Given the description of an element on the screen output the (x, y) to click on. 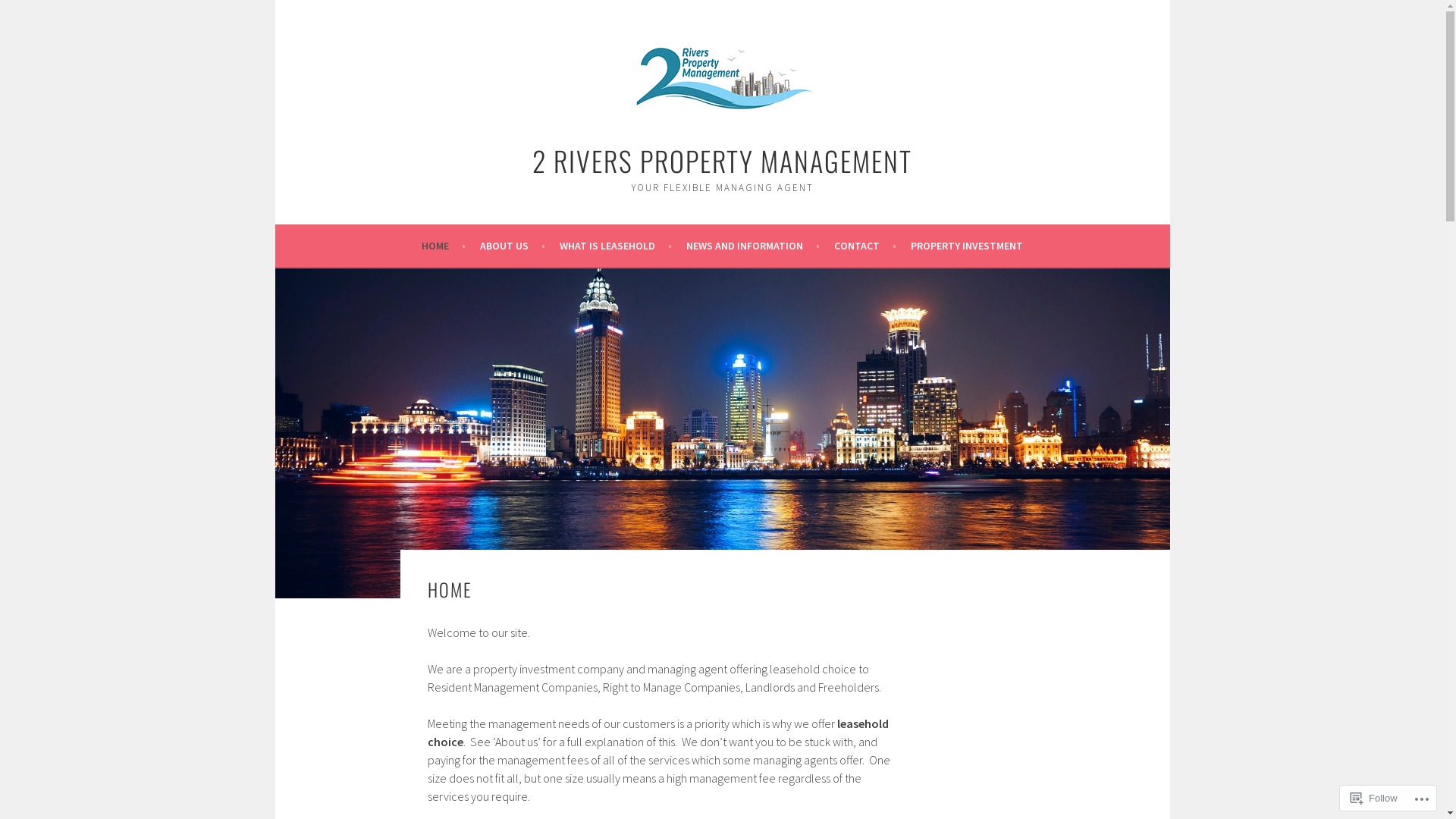
PROPERTY INVESTMENT Element type: text (966, 245)
2 RIVERS PROPERTY MANAGEMENT Element type: text (722, 160)
Follow Element type: text (1373, 797)
HOME Element type: text (443, 245)
NEWS AND INFORMATION Element type: text (752, 245)
ABOUT US Element type: text (512, 245)
WHAT IS LEASEHOLD Element type: text (615, 245)
CONTACT Element type: text (865, 245)
